Given the description of an element on the screen output the (x, y) to click on. 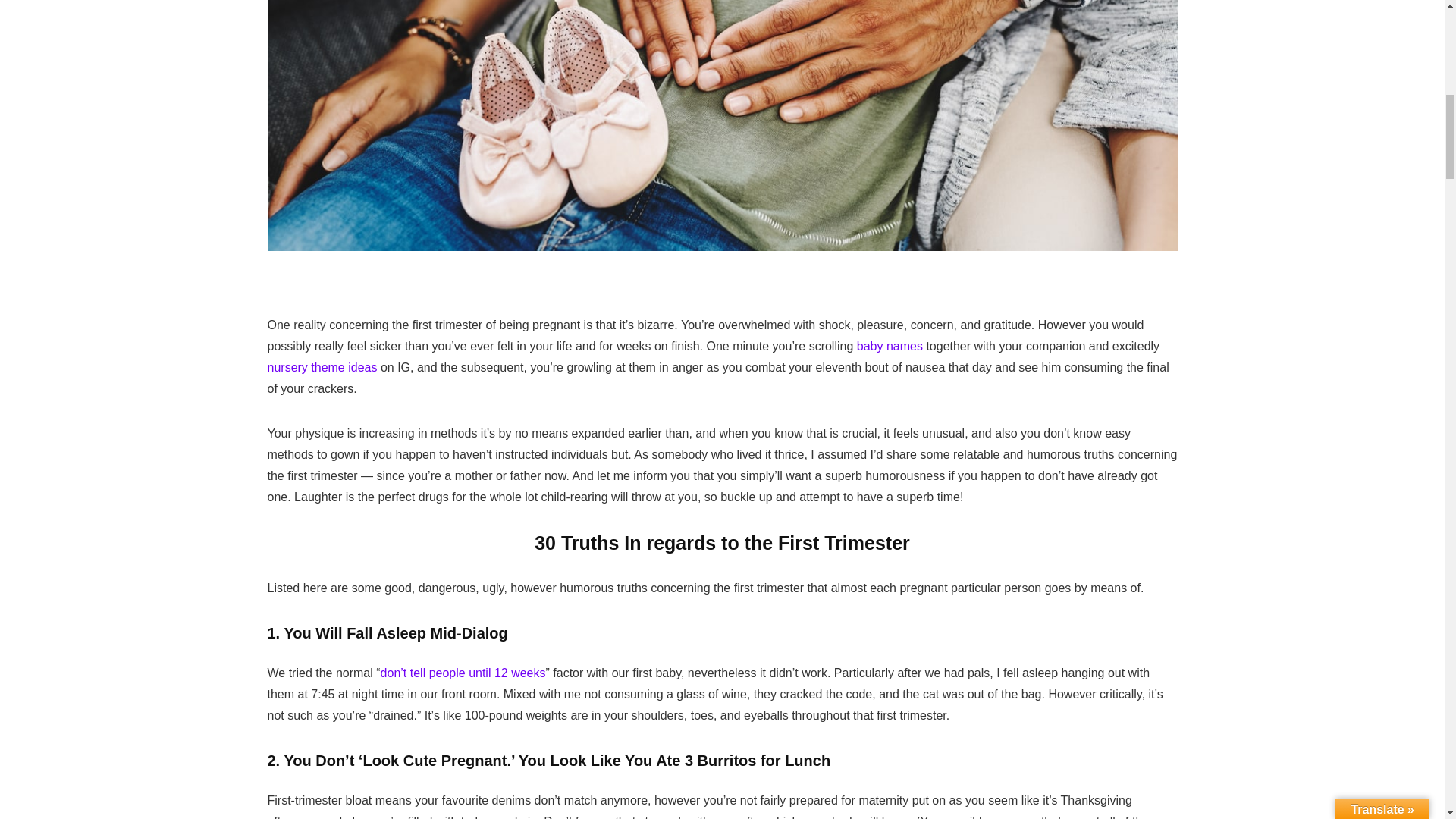
baby names (890, 345)
nursery theme ideas (321, 367)
